Given the description of an element on the screen output the (x, y) to click on. 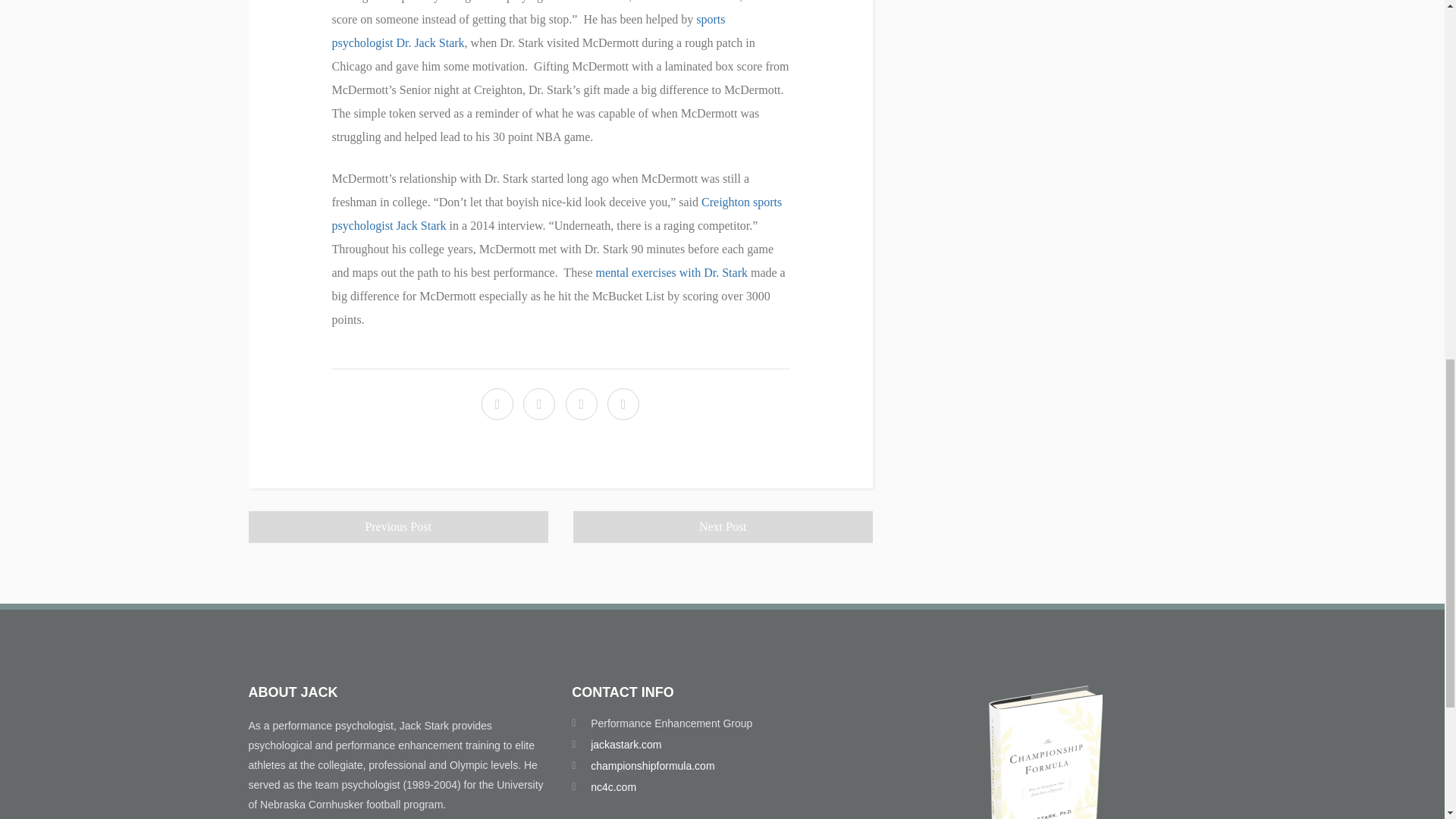
Previous Post (398, 526)
nc4c.com (613, 787)
sports psychologist Dr. Jack Stark (528, 31)
championshipformula.com (652, 766)
jackastark.com (626, 744)
mental exercises with Dr. Stark (671, 272)
Creighton sports psychologist Jack Stark (557, 213)
Next Post (722, 526)
